Given the description of an element on the screen output the (x, y) to click on. 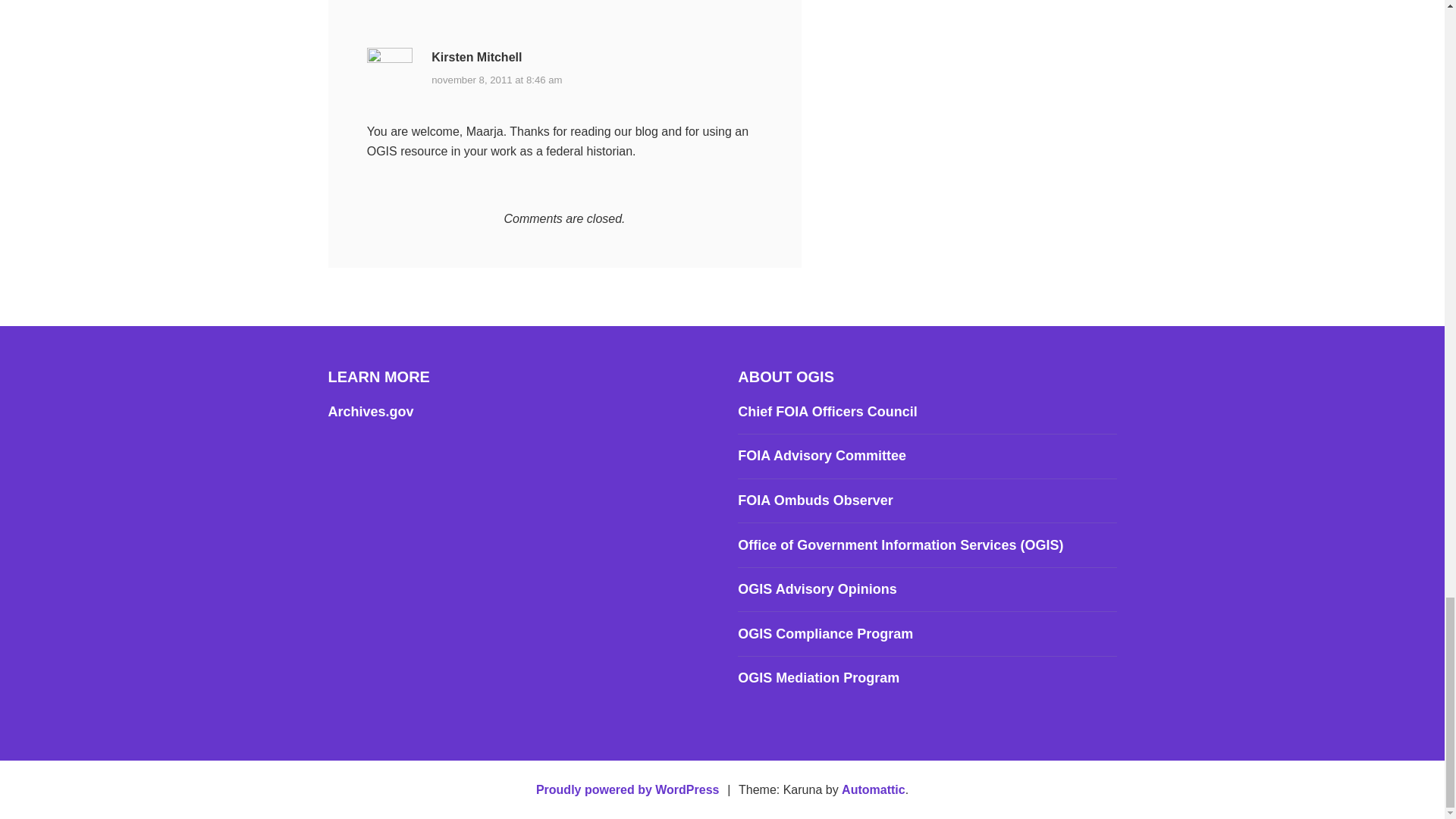
november 8, 2011 at 8:46 am (496, 79)
